Given the description of an element on the screen output the (x, y) to click on. 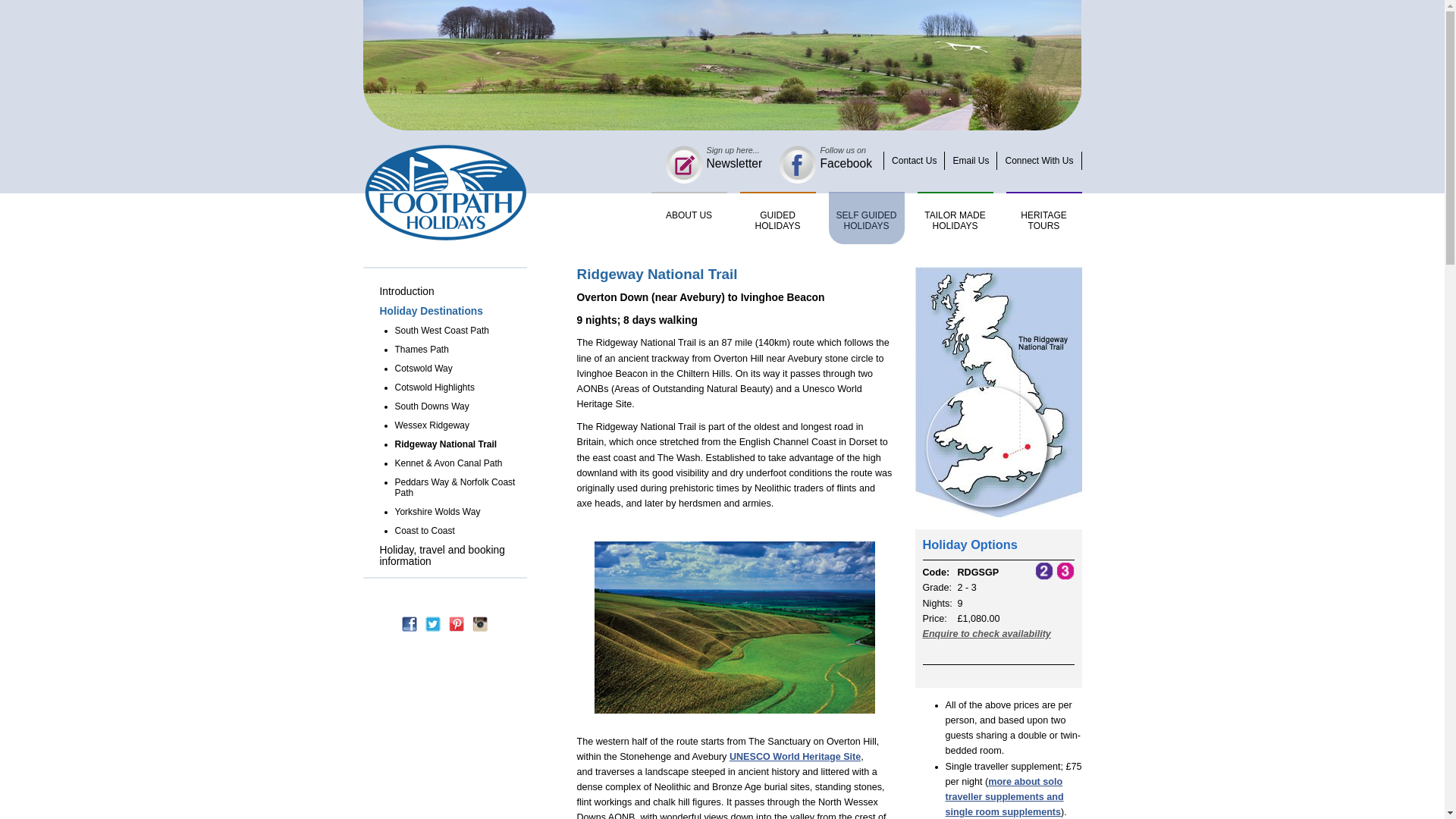
GUIDED HOLIDAYS (777, 217)
Yorkshire Wolds Way (459, 511)
Holiday, travel and booking information (451, 555)
The Manger (734, 627)
Connect With Us (1039, 160)
South Downs Way (459, 406)
Coast to Coast (459, 530)
Cotswold Way (459, 368)
